Given the description of an element on the screen output the (x, y) to click on. 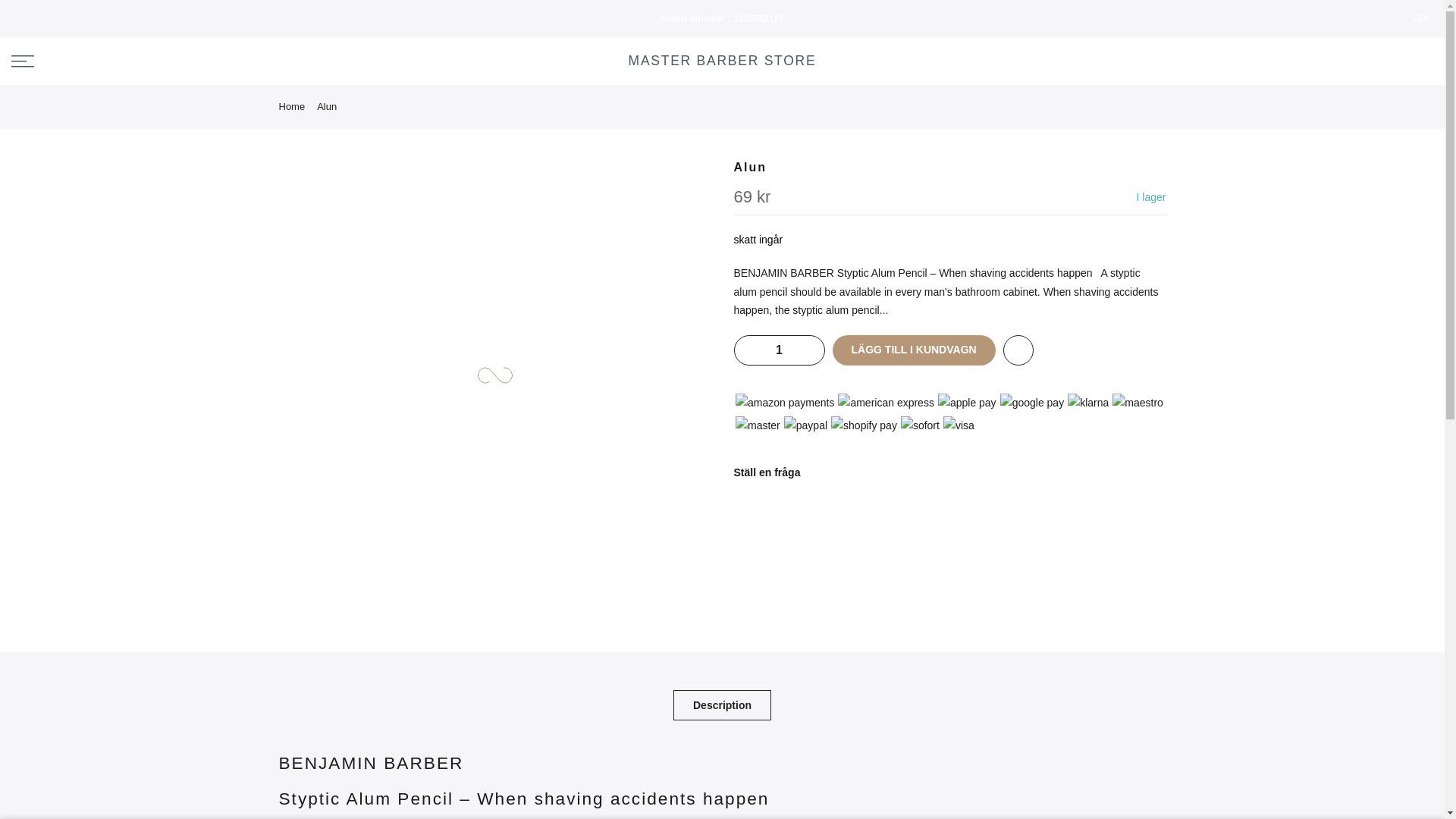
1 (778, 349)
Description (721, 705)
MASTER BARBER STORE (722, 60)
Home (292, 106)
